Given the description of an element on the screen output the (x, y) to click on. 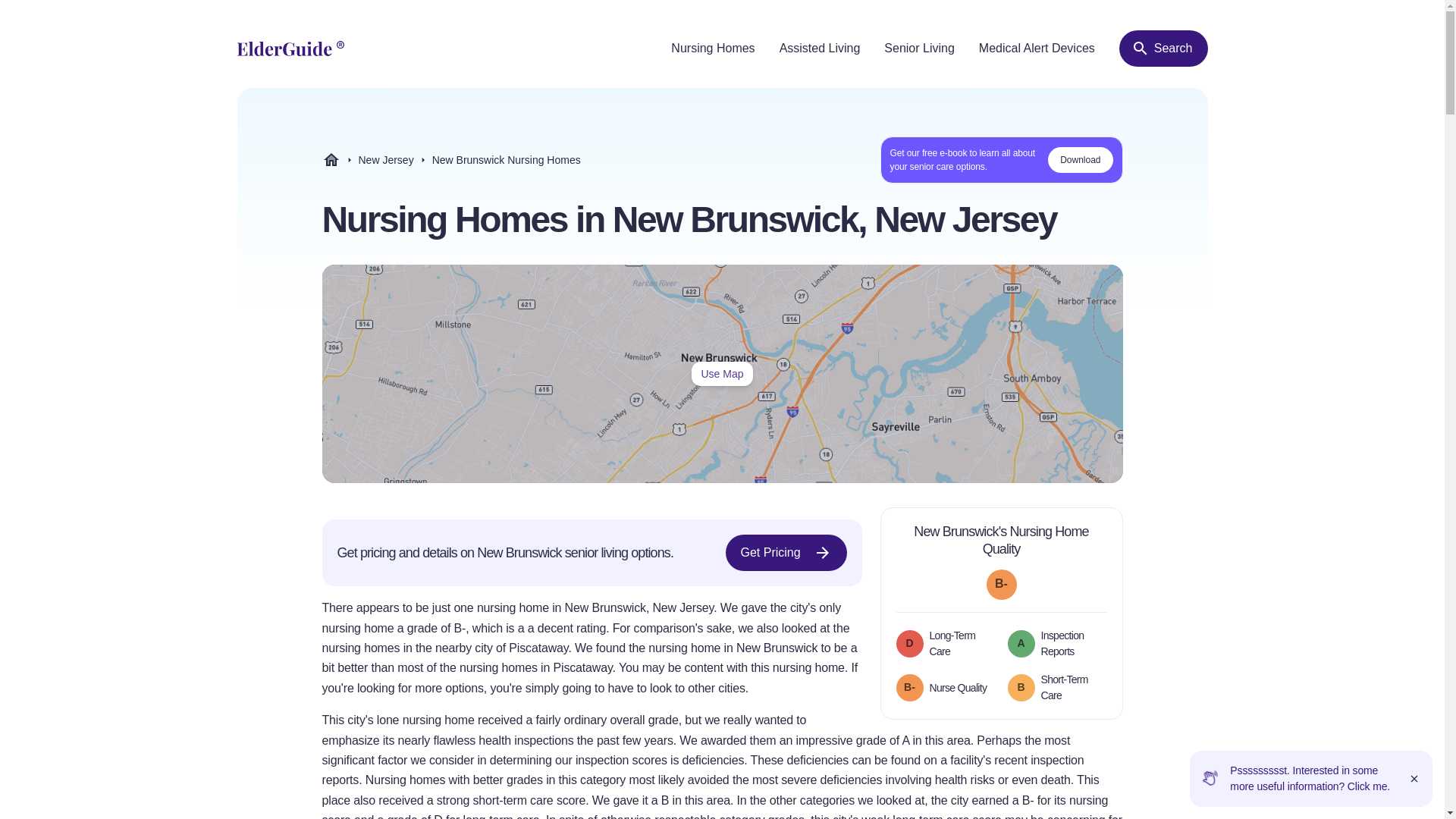
New Jersey (385, 159)
Medical Alert Devices (450, 159)
Use Map (1036, 47)
Search (721, 373)
Senior Living (1163, 48)
Get Pricing (919, 47)
ElderGuide.com (785, 552)
Nursing Homes (450, 159)
